Given the description of an element on the screen output the (x, y) to click on. 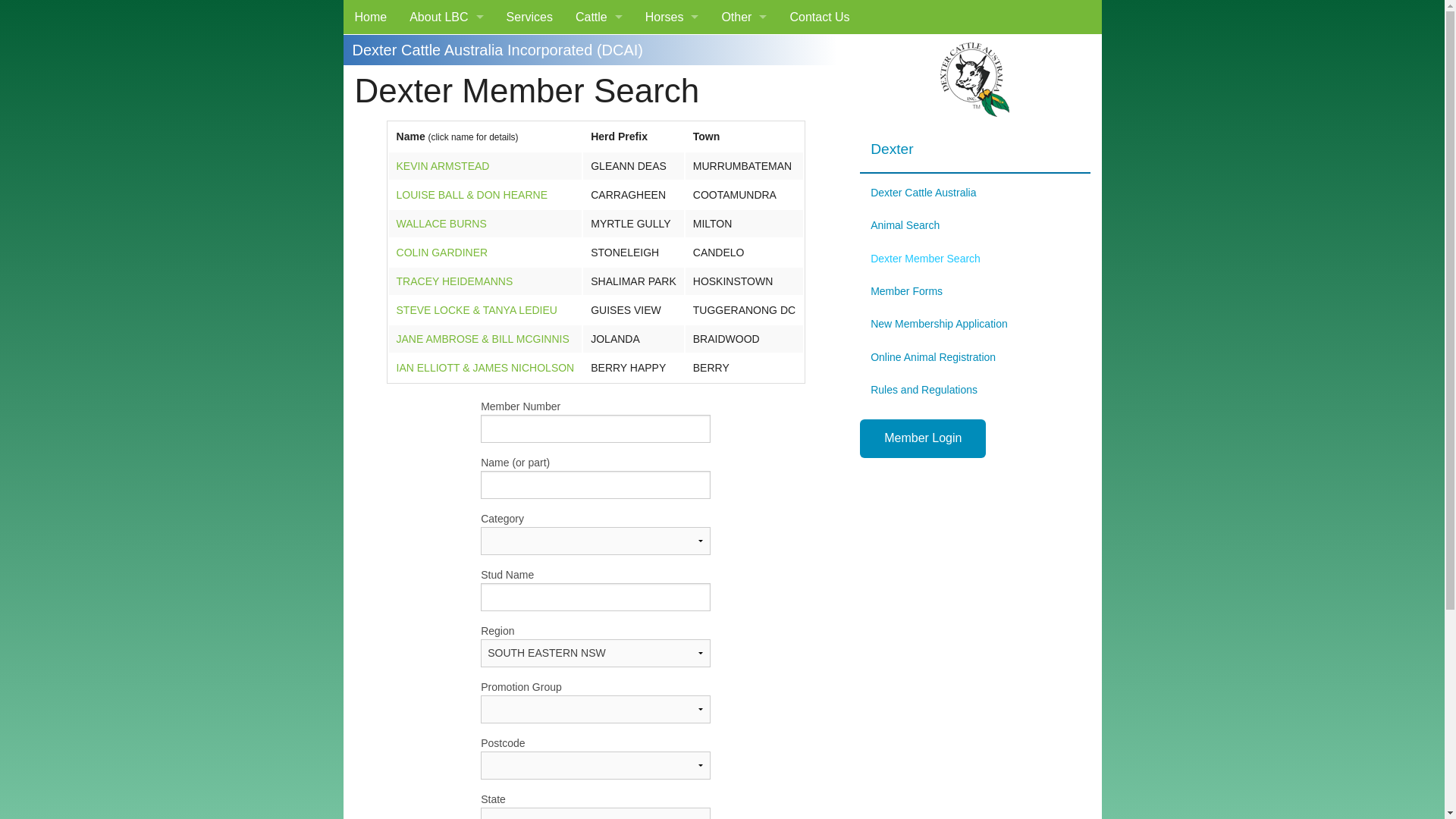
Member Forms Element type: text (974, 290)
Horses Element type: text (671, 17)
Dexter Element type: text (974, 149)
KEVIN ARMSTEAD Element type: text (442, 166)
Miniature Pony Element type: text (671, 51)
What We Do Element type: text (446, 51)
Kalahari Red Goat Element type: text (743, 85)
Guernsey Element type: text (598, 290)
Other Element type: text (743, 17)
Services Element type: text (529, 17)
Member Login Element type: text (922, 438)
Miniature Galloways Element type: text (598, 358)
Fleckvieh Element type: text (598, 221)
Rules and Regulations Element type: text (974, 389)
Pinzgauer Element type: text (598, 426)
COLIN GARDINER Element type: text (442, 252)
STEVE LOCKE & TANYA LEDIEU Element type: text (476, 310)
TRACEY HEIDEMANNS Element type: text (454, 281)
Ayrshires Element type: text (598, 51)
Contact Us Element type: text (819, 17)
Dexter Cattle Australia Element type: text (974, 192)
JANE AMBROSE & BILL MCGINNIS Element type: text (482, 338)
IAN ELLIOTT & JAMES NICHOLSON Element type: text (485, 367)
Illawarra Element type: text (598, 324)
Cattle Element type: text (598, 17)
Dexter Element type: text (598, 153)
Braunvieh Element type: text (598, 85)
Home Element type: text (370, 17)
Square Meaters Element type: text (598, 494)
WALLACE BURNS Element type: text (441, 223)
Dexter Member Search Element type: text (974, 257)
Simbra Element type: text (598, 460)
Boer Goat Element type: text (743, 51)
About LBC Element type: text (446, 17)
New Membership Application Element type: text (974, 323)
Animal Search Element type: text (974, 224)
Galloways Australia Element type: text (598, 255)
Pig Breeders Element type: text (743, 119)
LOUISE BALL & DON HEARNE Element type: text (471, 194)
Murray Grey Element type: text (598, 392)
Online Animal Registration Element type: text (974, 356)
Dairy Shorthorn Element type: text (598, 119)
Who We Are Element type: text (446, 85)
Our Clients Element type: text (446, 119)
English Longhorns Element type: text (598, 187)
Our History Element type: text (446, 153)
